Given the description of an element on the screen output the (x, y) to click on. 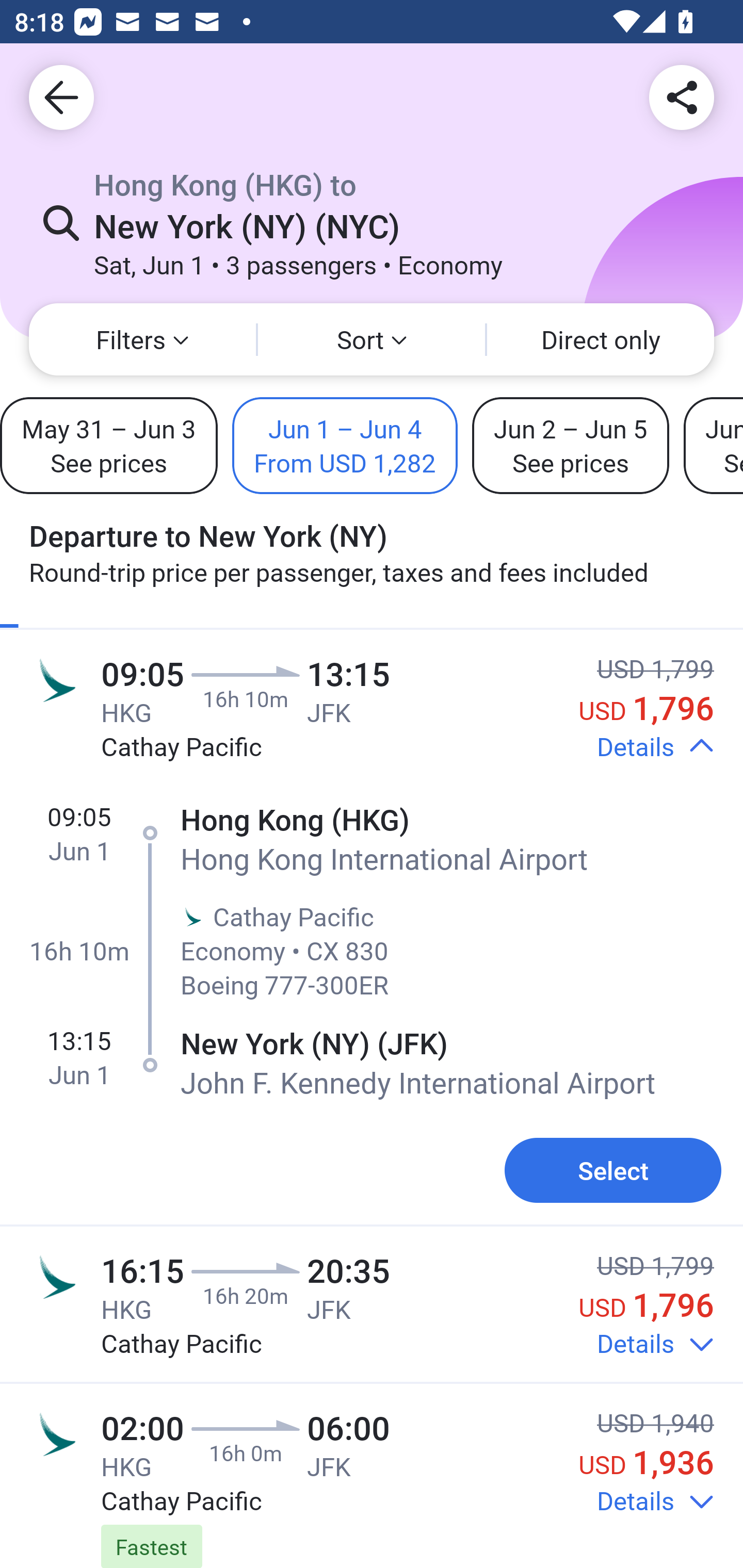
Filters (141, 339)
Sort (371, 339)
Direct only (600, 339)
May 31 – Jun 3 See prices (108, 444)
Jun 1 – Jun 4 From USD 1,282 (344, 444)
Jun 2 – Jun 5 See prices (570, 444)
Select (612, 1170)
